Given the description of an element on the screen output the (x, y) to click on. 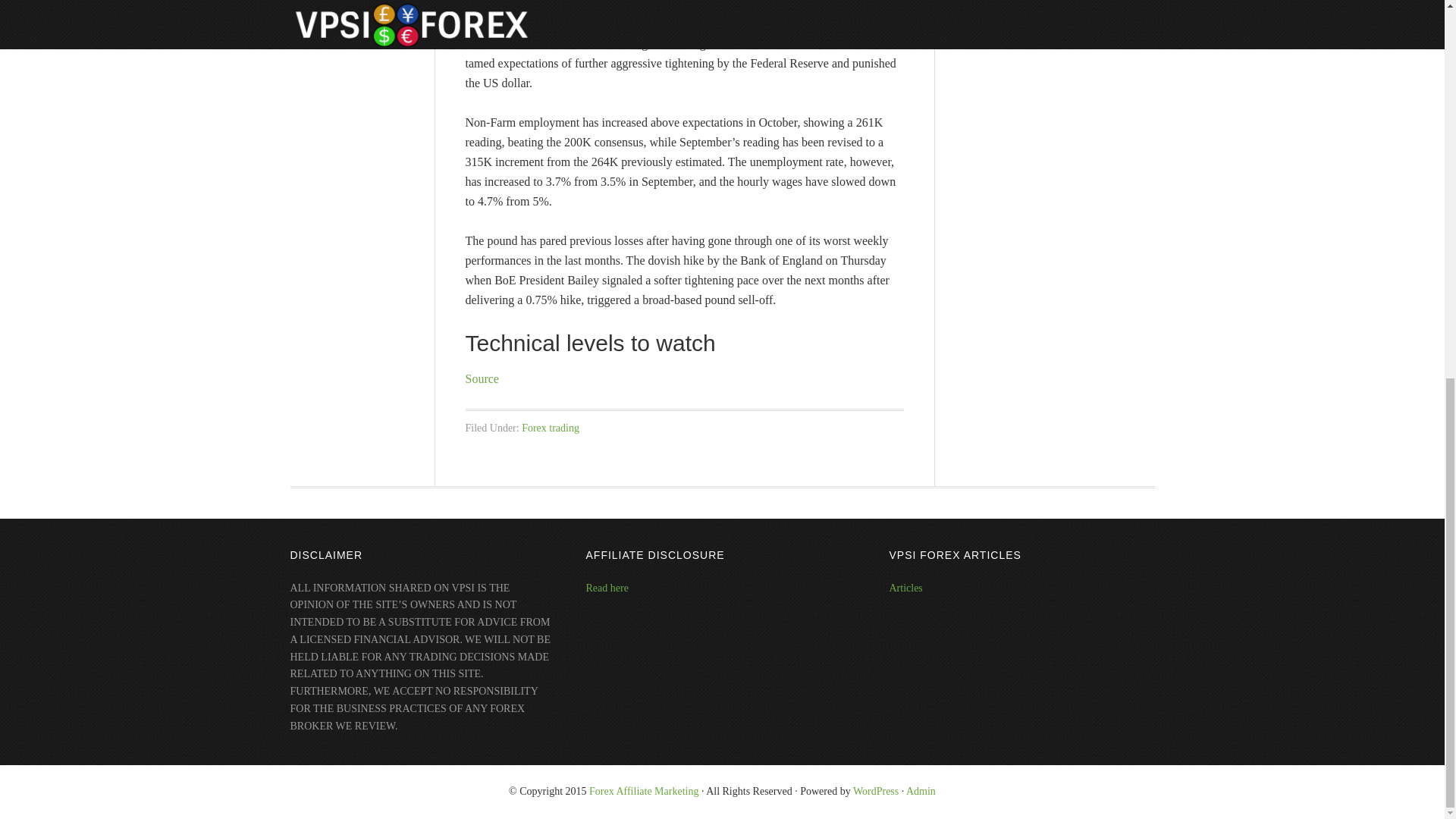
Articles (904, 587)
Forex Affiliate Marketing (643, 790)
Admin (920, 790)
Forex trading (550, 428)
WordPress (875, 790)
Source (482, 378)
Read here (606, 587)
Non-Farm Payrolls (600, 23)
